Given the description of an element on the screen output the (x, y) to click on. 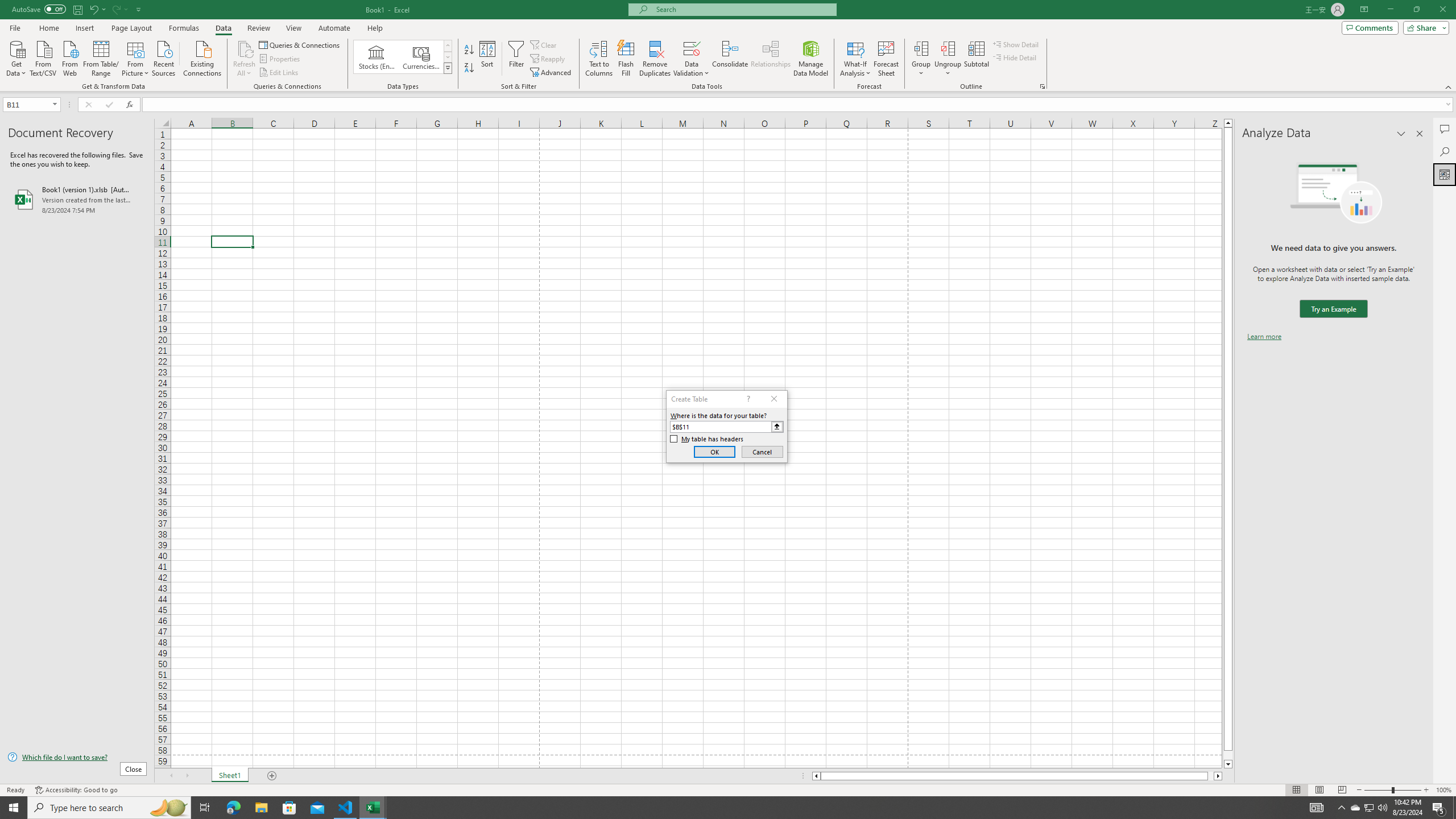
Automate (334, 28)
Refresh All (244, 48)
Filter (515, 58)
AutomationID: ConvertToLinkedEntity (403, 56)
Recent Sources (163, 57)
Forecast Sheet (885, 58)
Analyze Data (1444, 173)
Page Layout (131, 28)
Data Validation... (691, 48)
From Picture (135, 57)
Page Layout (1318, 790)
Group and Outline Settings (1042, 85)
Formula Bar (799, 104)
Book1 (version 1).xlsb  [AutoRecovered] (77, 199)
Class: NetUIImage (447, 68)
